Given the description of an element on the screen output the (x, y) to click on. 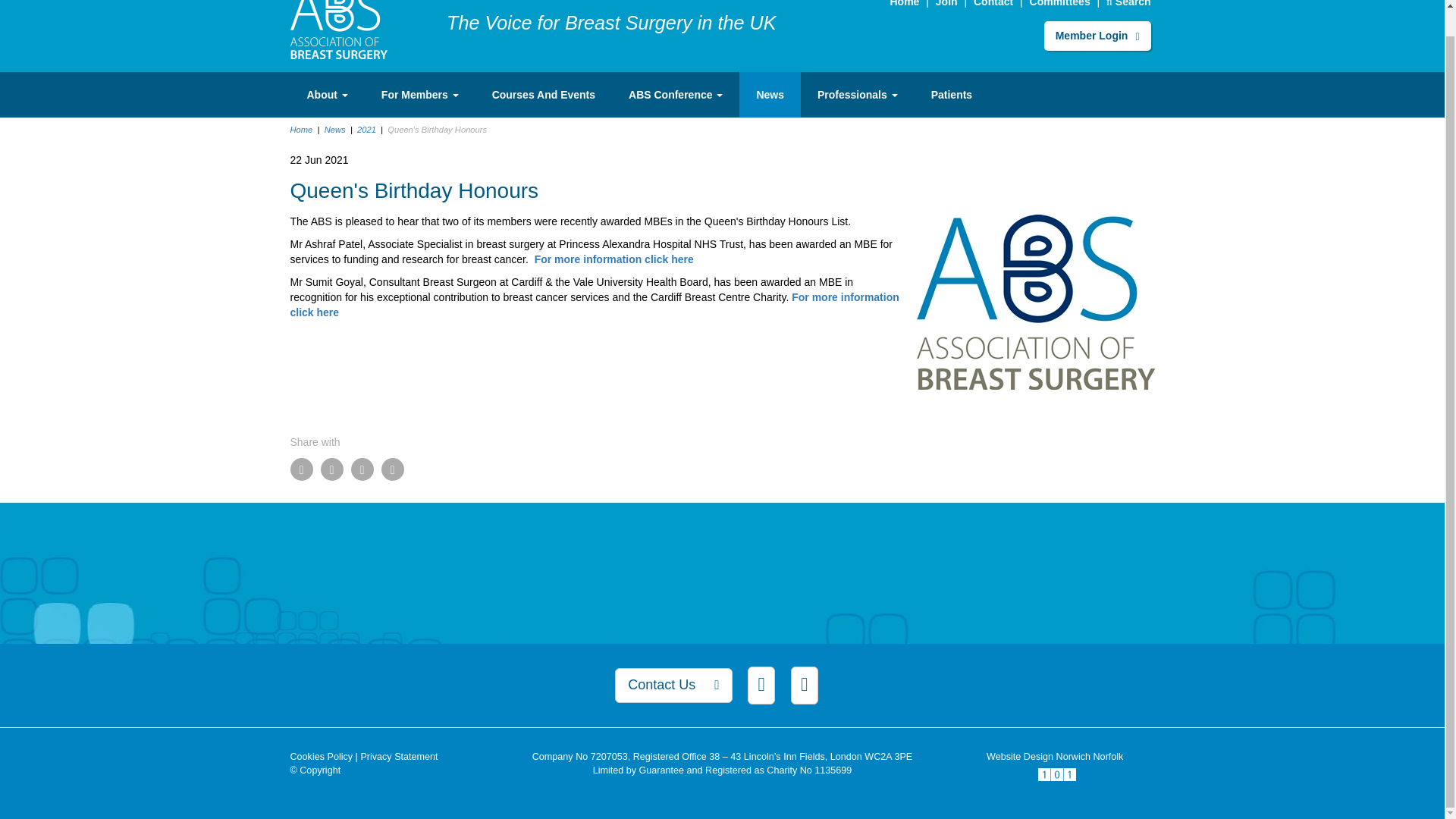
Join ABS (947, 3)
Member Login (1097, 35)
Search (1128, 3)
Search (1128, 3)
For Members (420, 94)
Home (338, 21)
About (326, 94)
Contact Us (993, 3)
About (326, 94)
Contact (993, 3)
Join (947, 3)
Committees (1059, 3)
Member Login (1097, 35)
Courses And Events (543, 94)
Home (903, 3)
